Given the description of an element on the screen output the (x, y) to click on. 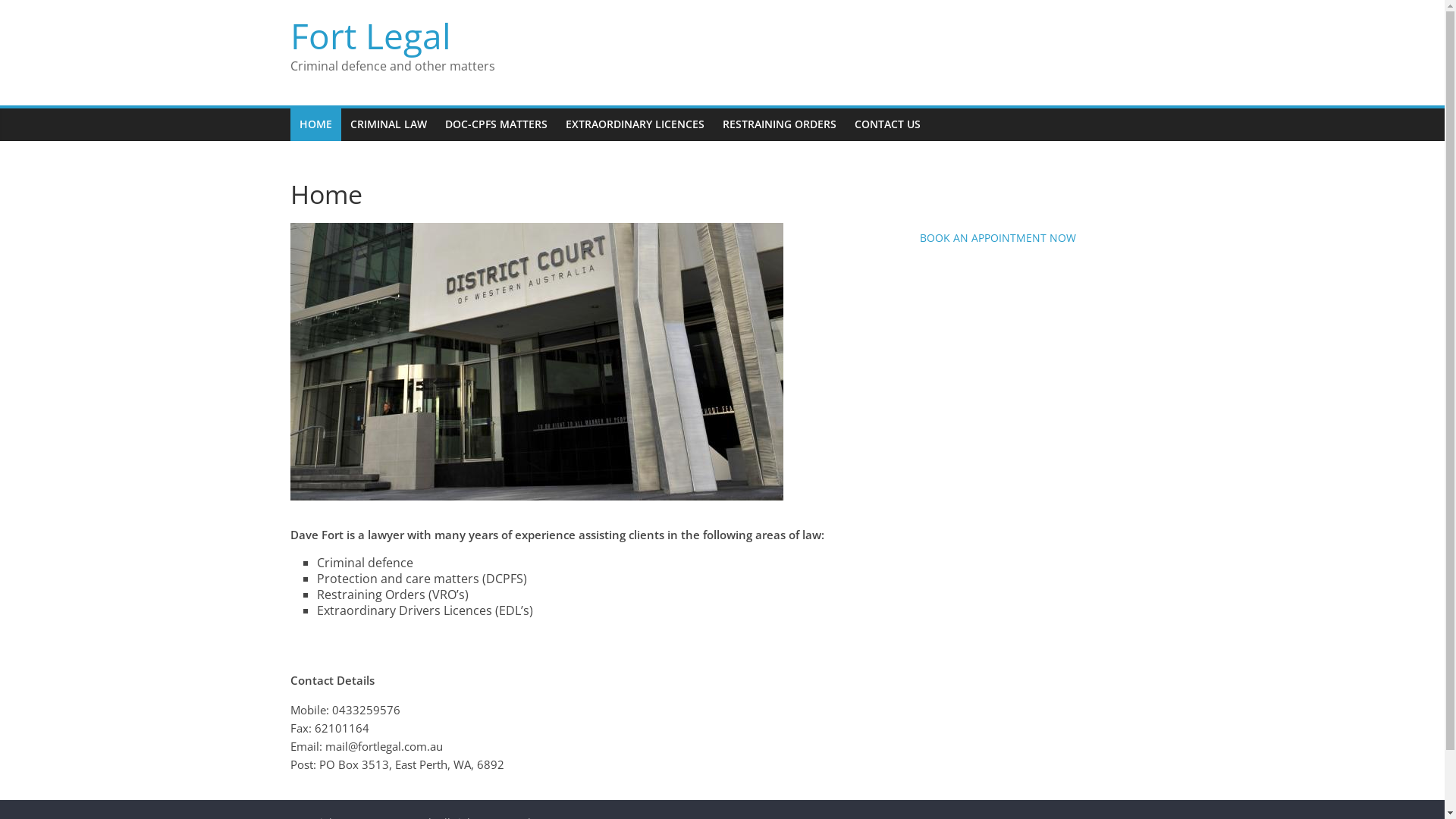
HOME Element type: text (314, 124)
Fort Legal Element type: text (369, 35)
EXTRAORDINARY LICENCES Element type: text (634, 124)
RESTRAINING ORDERS Element type: text (778, 124)
CONTACT US Element type: text (886, 124)
BOOK AN APPOINTMENT NOW Element type: text (997, 237)
CRIMINAL LAW Element type: text (388, 124)
DOC-CPFS MATTERS Element type: text (495, 124)
